Given the description of an element on the screen output the (x, y) to click on. 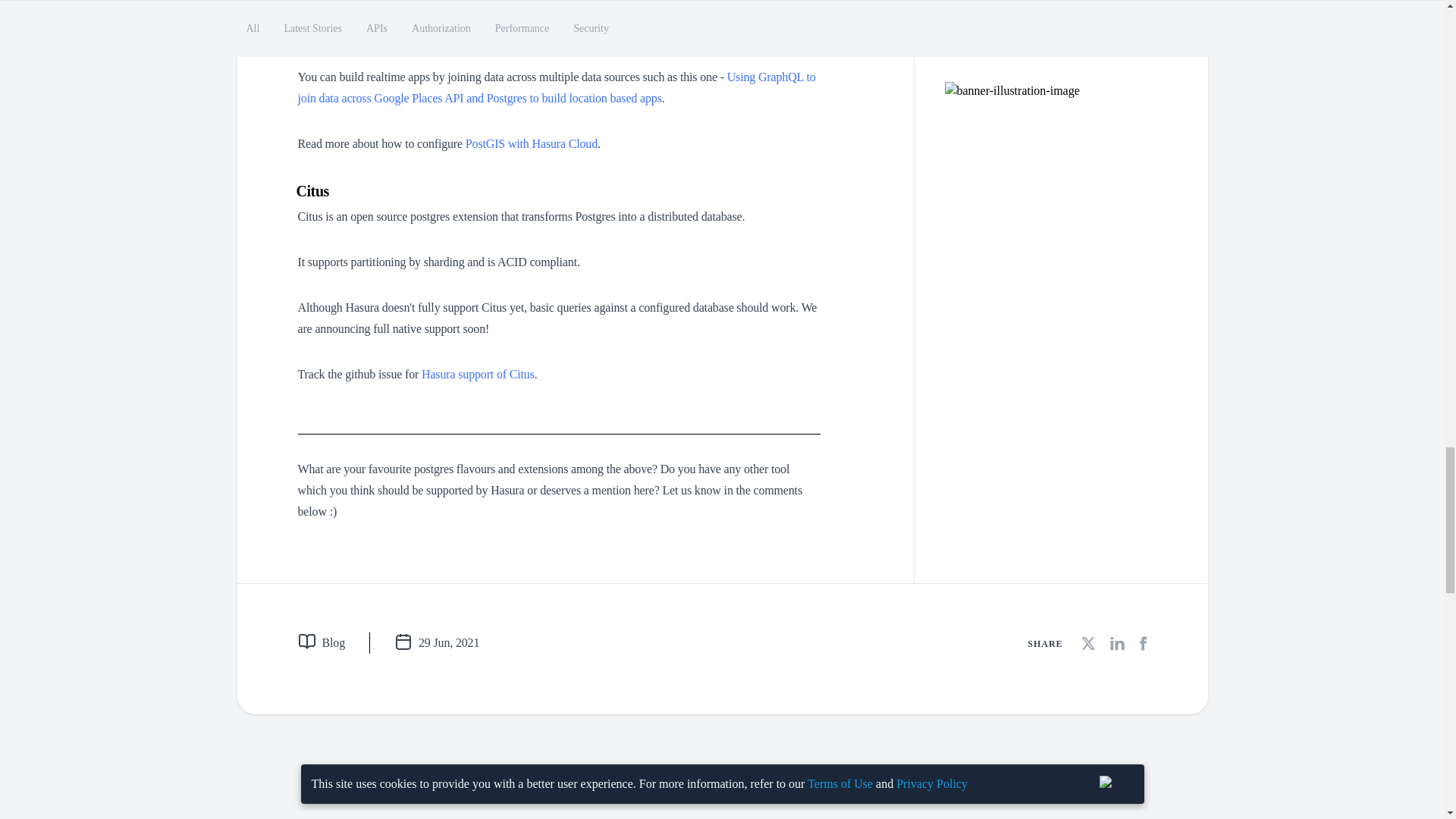
Hasura support of Citus (478, 373)
PostGIS with Hasura Cloud (530, 143)
